Given the description of an element on the screen output the (x, y) to click on. 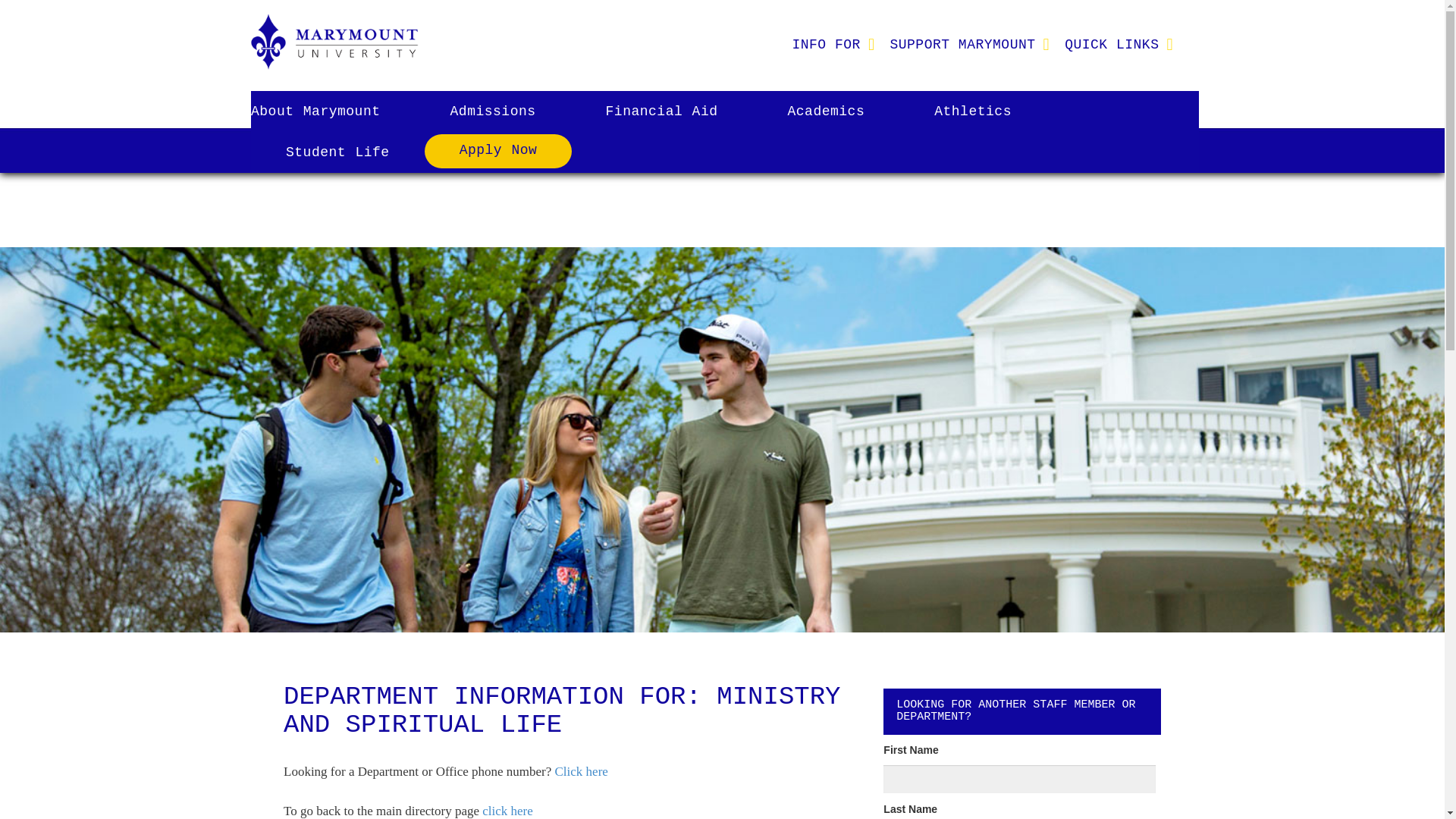
QUICK LINKS (1111, 44)
SUPPORT MARYMOUNT (962, 44)
About Marymount (332, 110)
Office Directory (581, 771)
INFO FOR (825, 44)
